Given the description of an element on the screen output the (x, y) to click on. 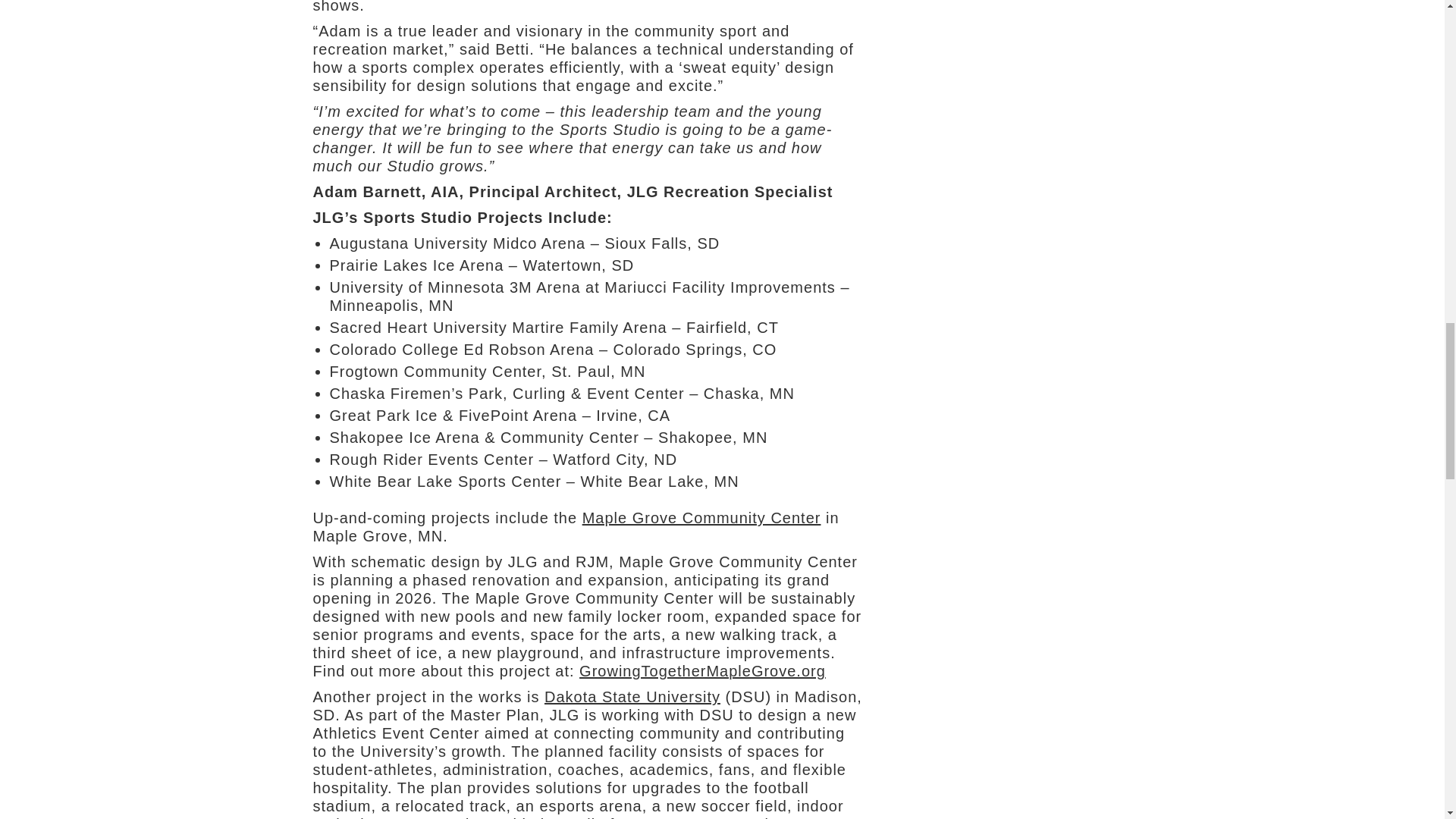
GrowingTogetherMapleGrove.org (702, 670)
Dakota State University (632, 696)
Maple Grove Community Center (701, 517)
